Given the description of an element on the screen output the (x, y) to click on. 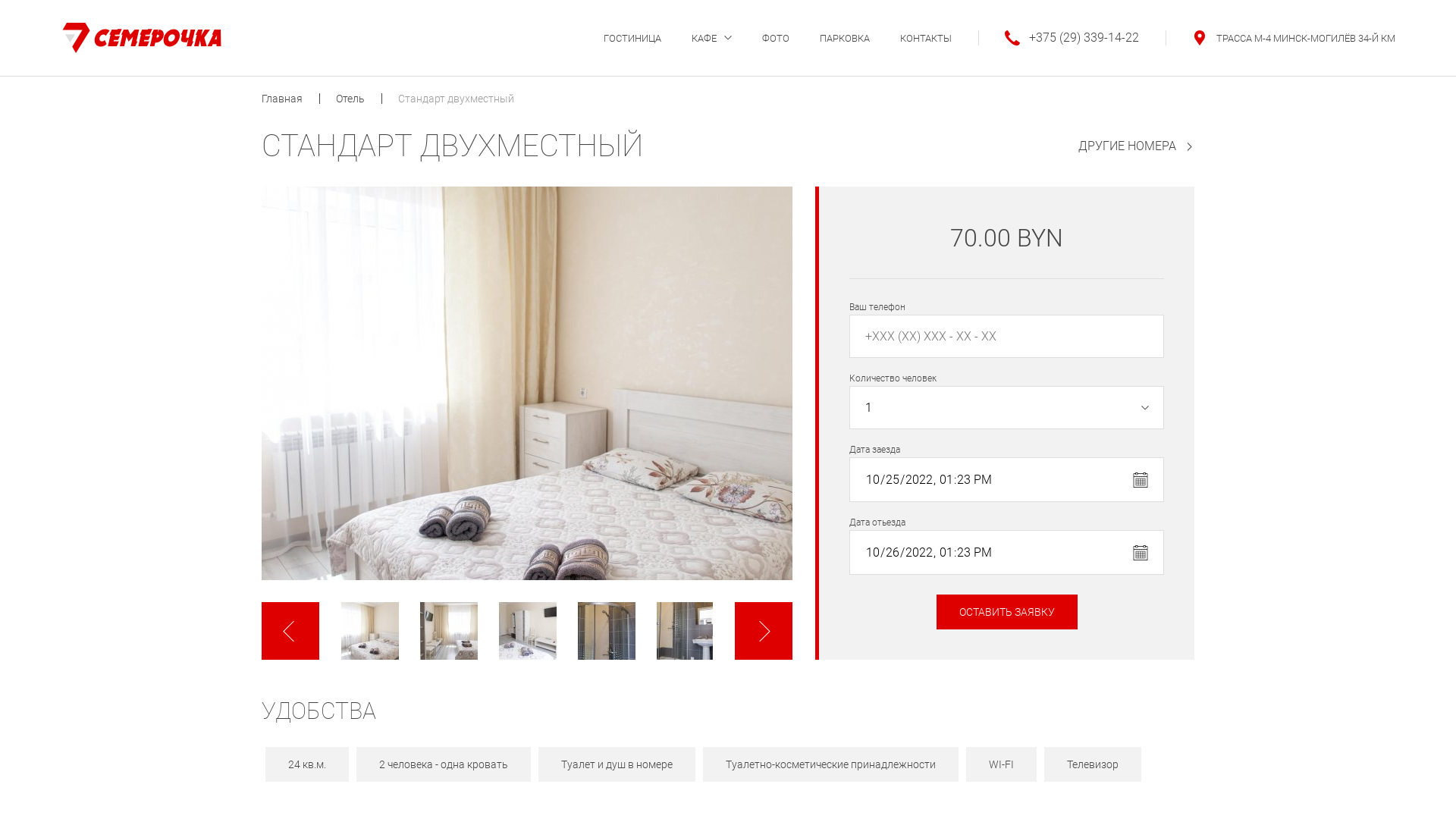
+375 (29) 339-14-22 Element type: text (1058, 37)
